Given the description of an element on the screen output the (x, y) to click on. 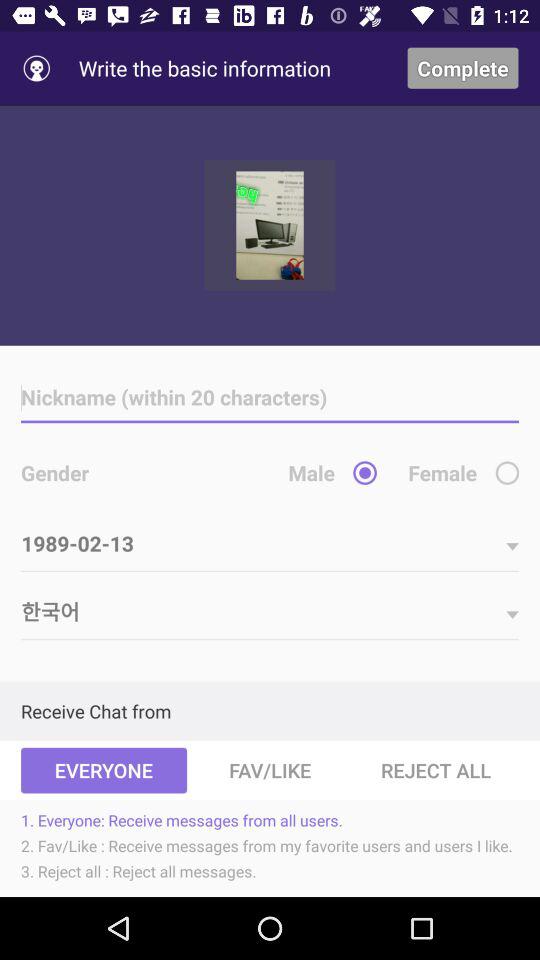
select male gender (364, 472)
